Given the description of an element on the screen output the (x, y) to click on. 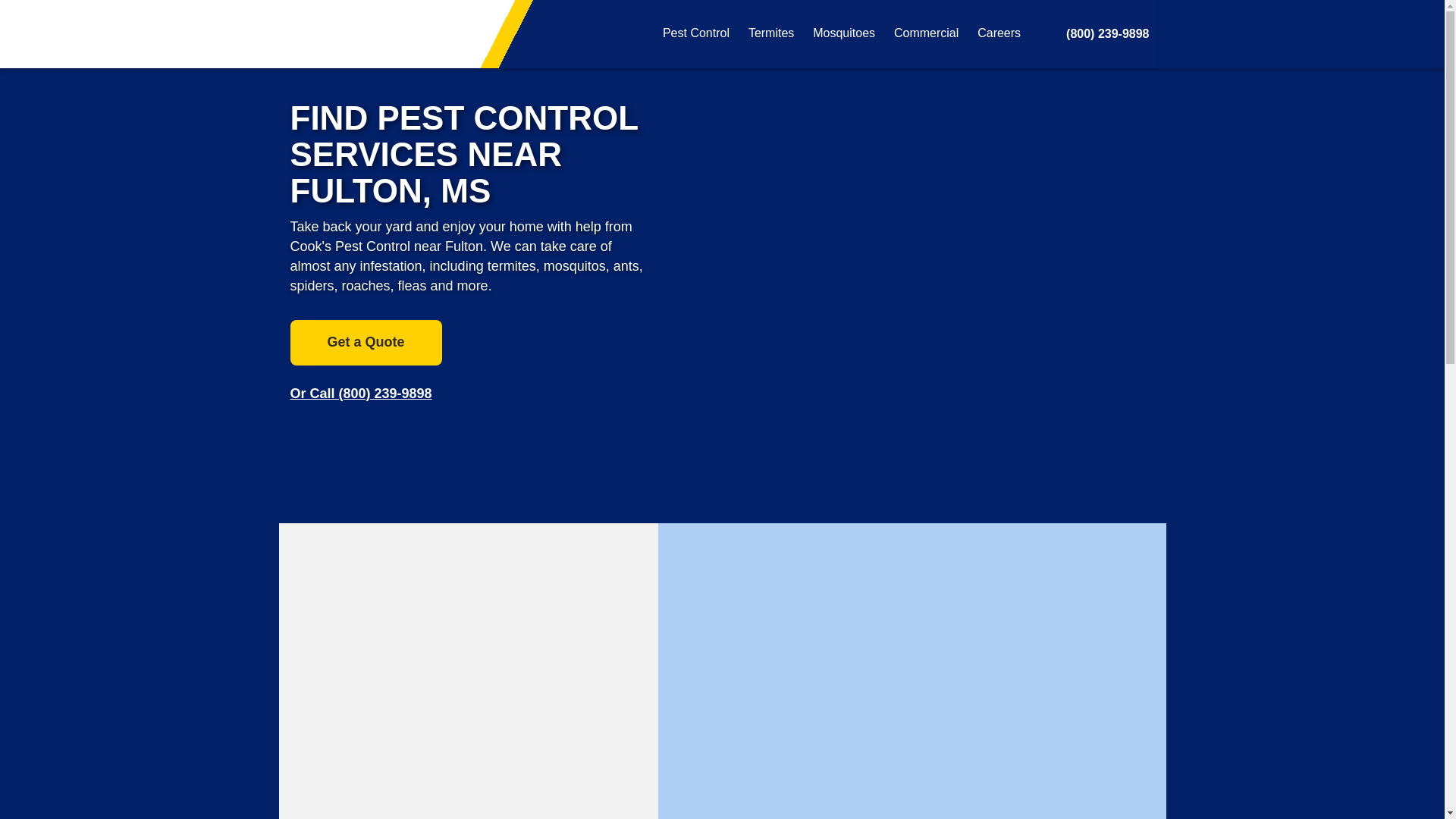
Get a Quote (365, 342)
Commercial (925, 33)
Termites (770, 33)
Mosquitoes (843, 33)
Careers (999, 33)
Pest Control (695, 33)
